Given the description of an element on the screen output the (x, y) to click on. 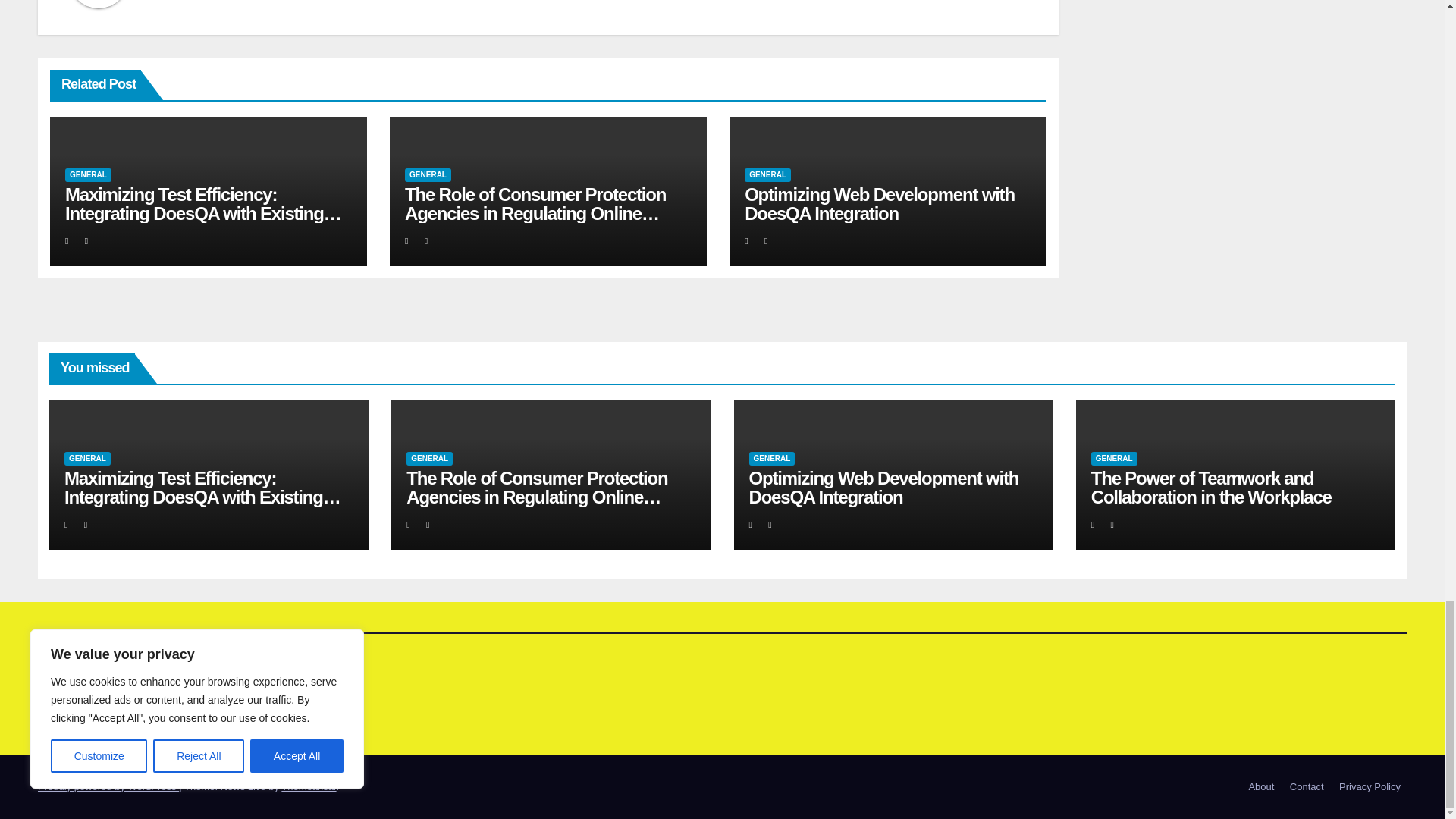
About (1260, 786)
Privacy Policy (1369, 786)
Contact (1307, 786)
